Given the description of an element on the screen output the (x, y) to click on. 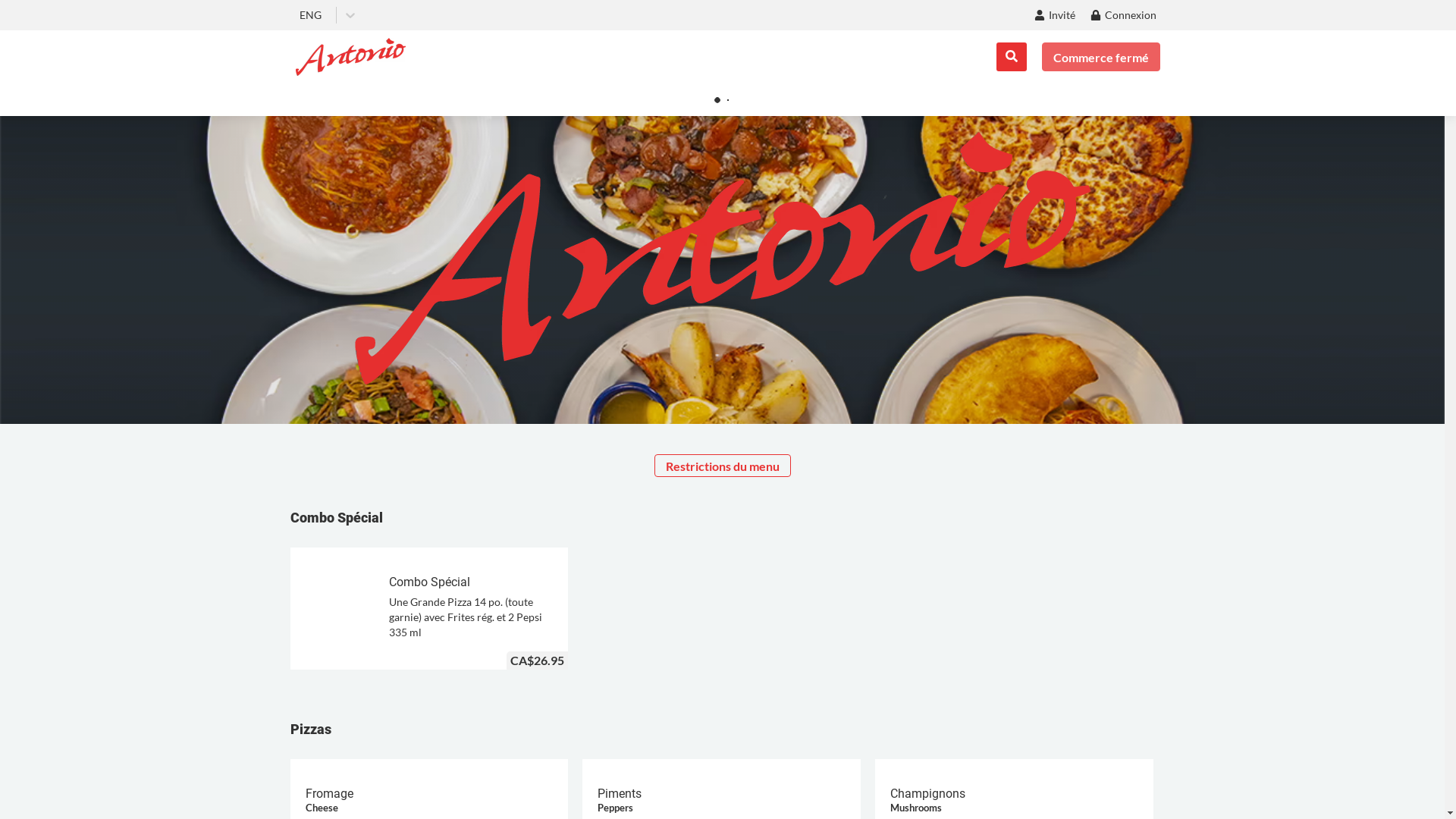
Restrictions du menu Element type: text (721, 465)
